Given the description of an element on the screen output the (x, y) to click on. 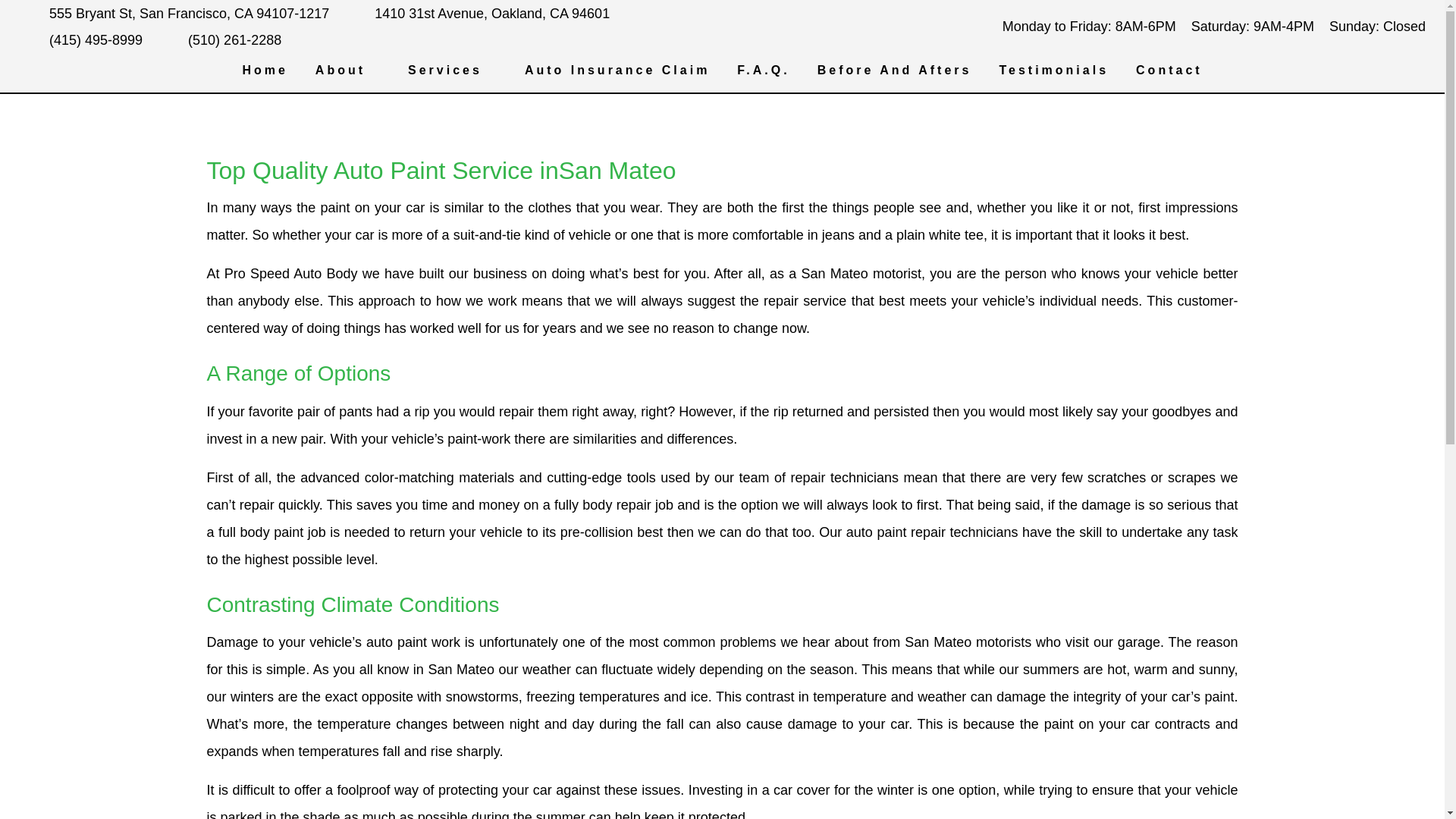
Collision Repair (456, 190)
Testimonials (1053, 70)
Auto Glass (456, 129)
Services (451, 70)
Before And Afters (894, 70)
Service Areas (351, 129)
Dent Repair (456, 220)
About (347, 70)
Contact (1168, 70)
Auto Paint (456, 159)
F.A.Q. (762, 70)
Home (264, 70)
Auto Insurance Claim (617, 70)
